Given the description of an element on the screen output the (x, y) to click on. 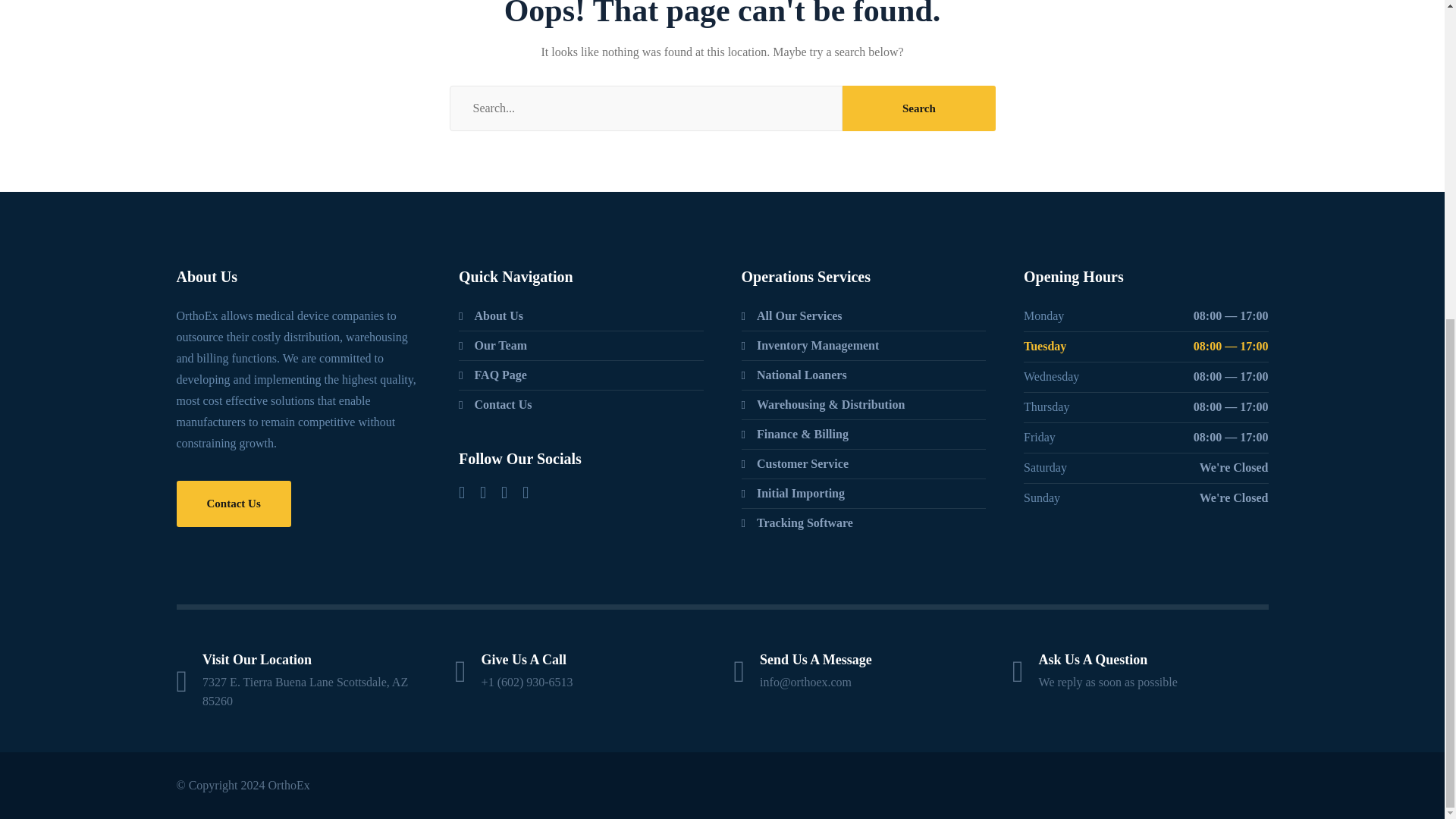
Contact Us (494, 404)
All Our Services (792, 315)
Inventory Management (810, 345)
Search (918, 108)
Tracking Software (797, 522)
National Loaners (794, 374)
FAQ Page (492, 374)
Initial Importing (793, 493)
Contact Us (232, 503)
Search (918, 108)
